Given the description of an element on the screen output the (x, y) to click on. 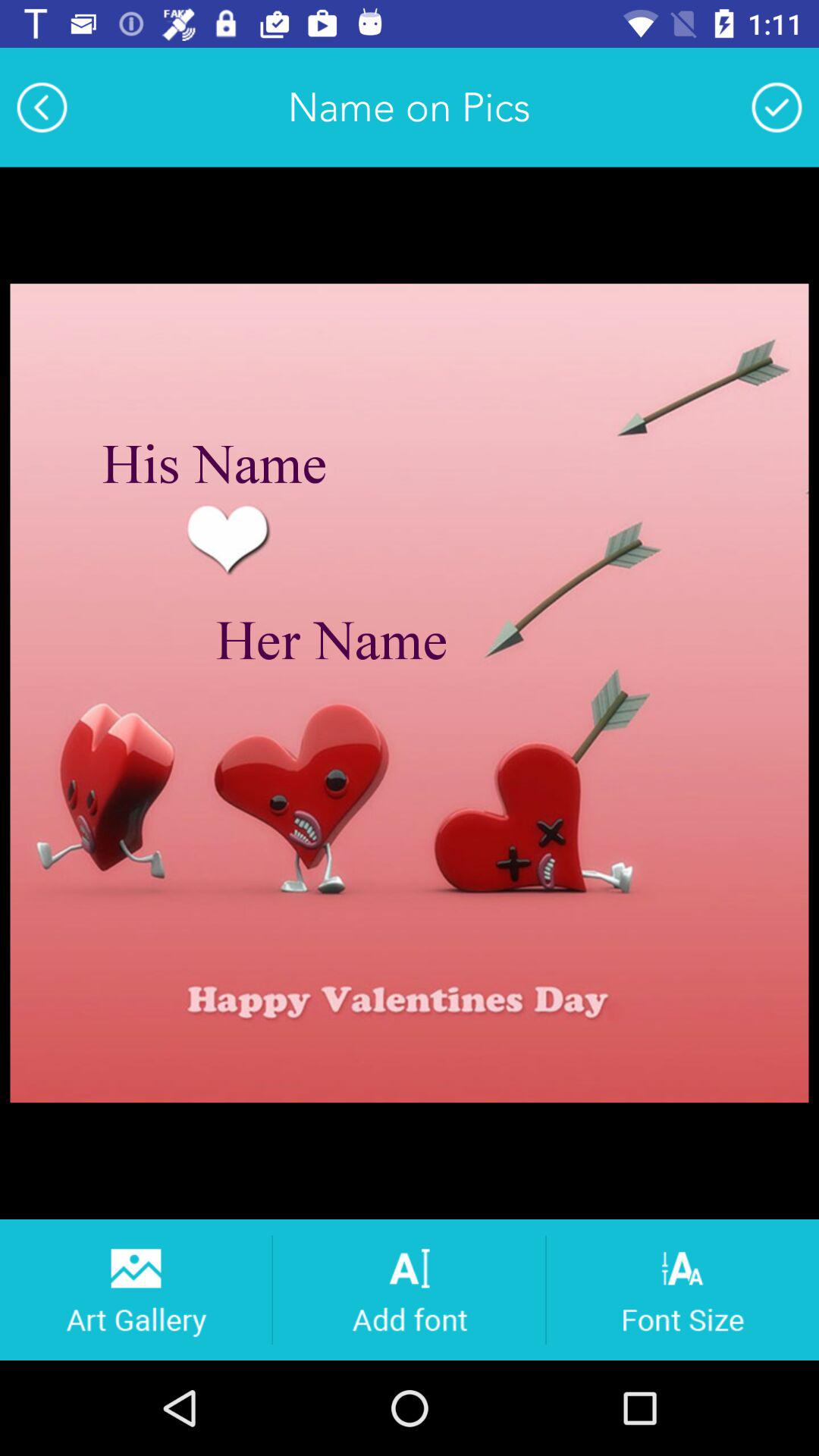
save changes to picture (776, 107)
